Given the description of an element on the screen output the (x, y) to click on. 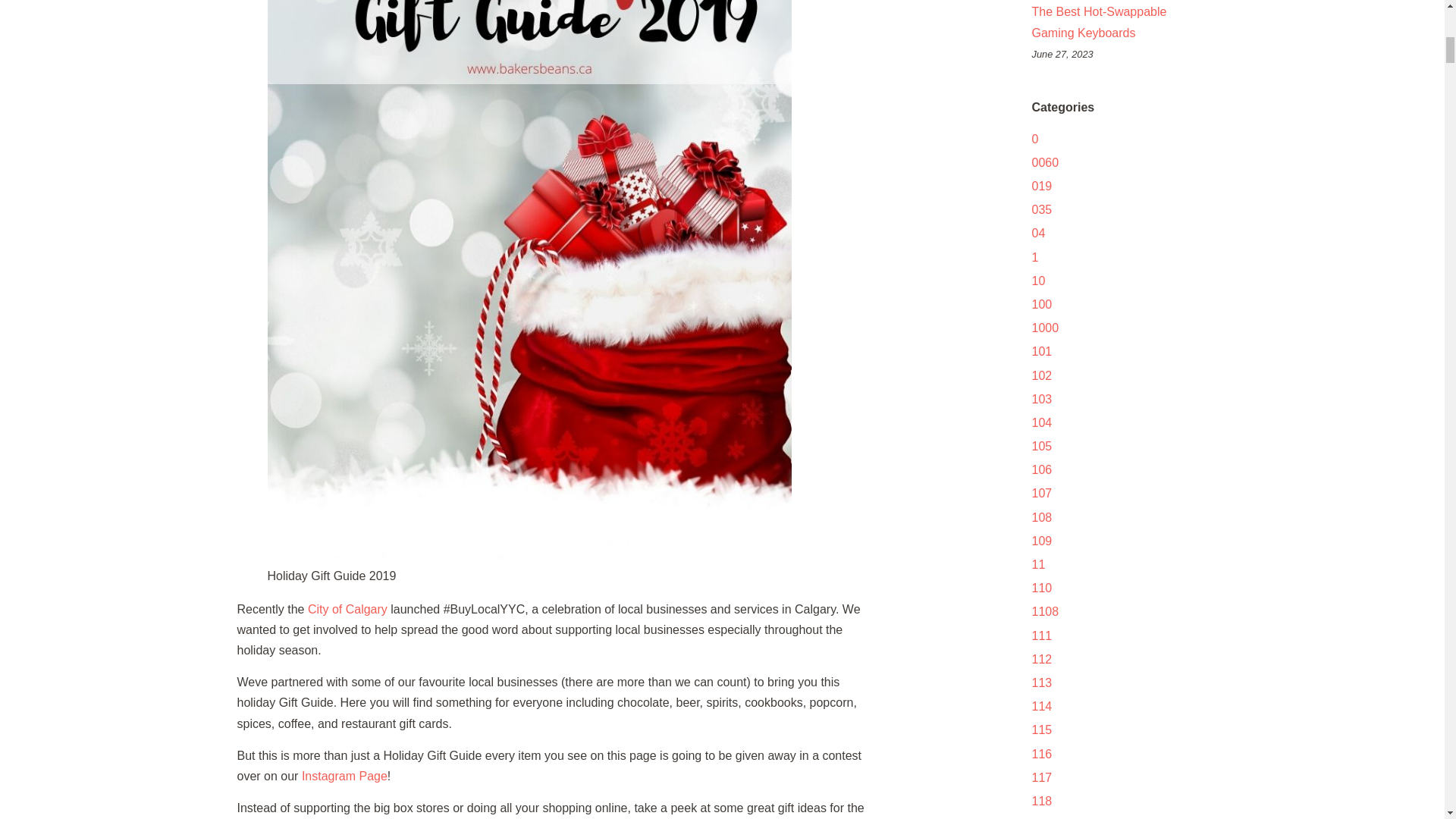
019 (1040, 185)
Show articles tagged 103 (1040, 399)
Show articles tagged 101 (1040, 350)
Show articles tagged 108 (1040, 517)
Show articles tagged 035 (1040, 209)
Show articles tagged 102 (1040, 374)
Show articles tagged 10 (1037, 280)
Instagram Page (344, 775)
0 (1034, 138)
Show articles tagged 104 (1040, 422)
Show articles tagged 105 (1040, 445)
Show articles tagged 106 (1040, 469)
Show articles tagged 019 (1040, 185)
City of Calgary (347, 608)
Show articles tagged 0 (1034, 138)
